Given the description of an element on the screen output the (x, y) to click on. 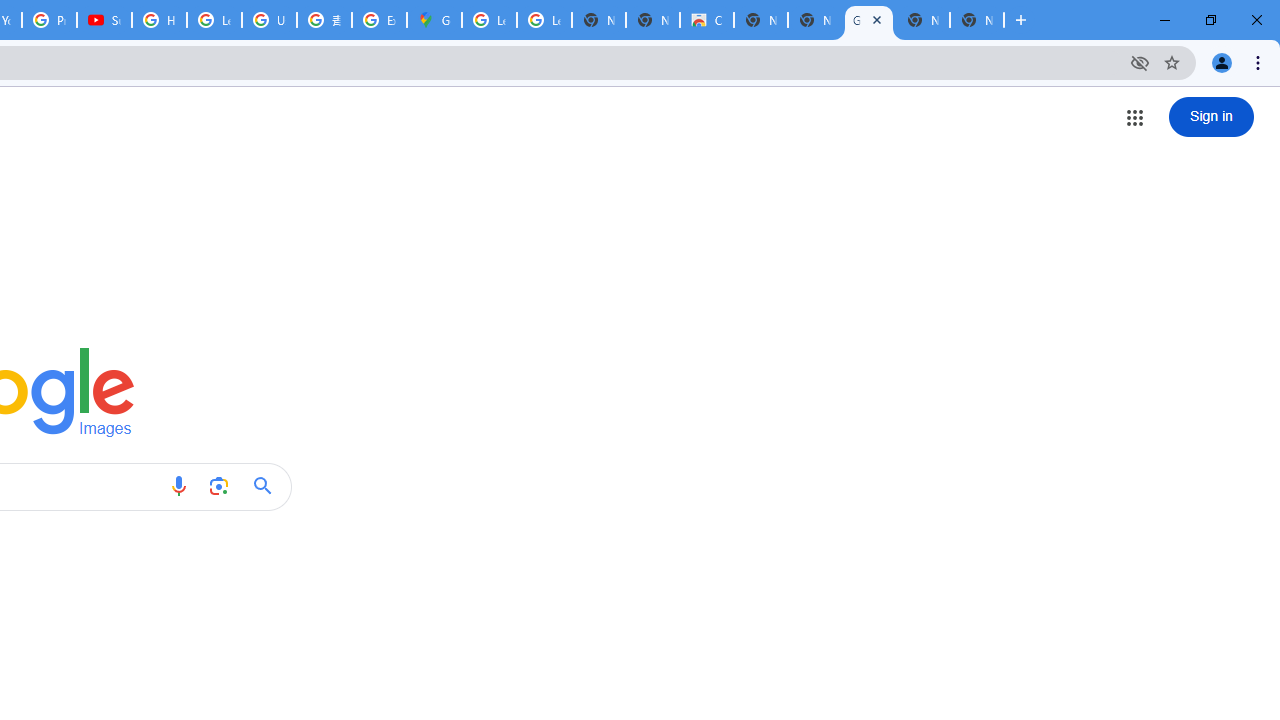
Subscriptions - YouTube (103, 20)
Google Search (268, 485)
Chrome Web Store (706, 20)
